Given the description of an element on the screen output the (x, y) to click on. 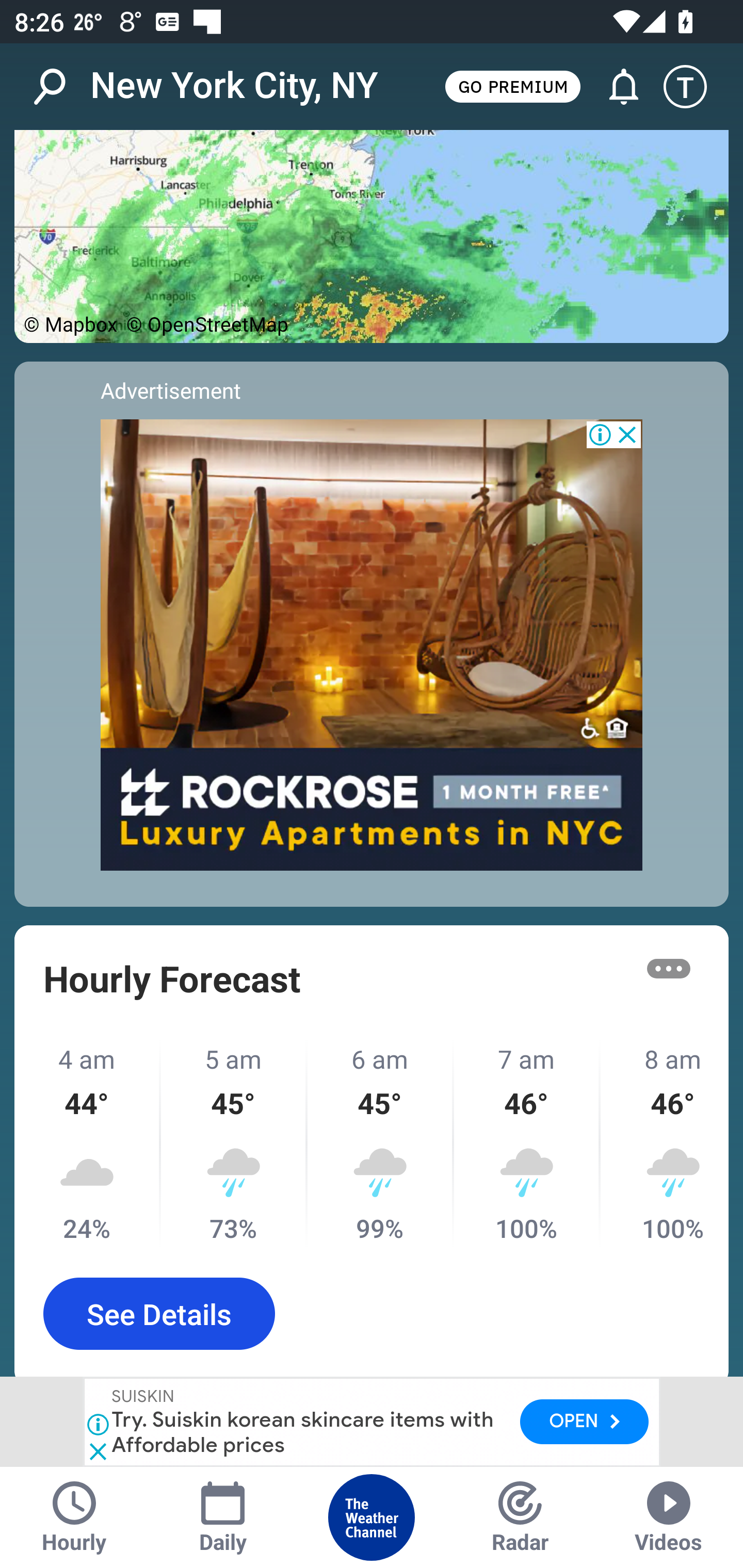
Search (59, 86)
Go to Alerts and Notifications (614, 86)
Setting icon T (694, 86)
New York City, NY (234, 85)
GO PREMIUM (512, 85)
See Map Details (371, 236)
More options (668, 968)
4 am 44° 24% (87, 1143)
5 am 45° 73% (234, 1143)
6 am 45° 99% (380, 1143)
7 am 46° 100% (526, 1143)
8 am 46° 100% (664, 1143)
See Details (158, 1313)
SUISKIN (143, 1397)
OPEN (584, 1421)
Hourly Tab Hourly (74, 1517)
Daily Tab Daily (222, 1517)
Radar Tab Radar (519, 1517)
Videos Tab Videos (668, 1517)
